Given the description of an element on the screen output the (x, y) to click on. 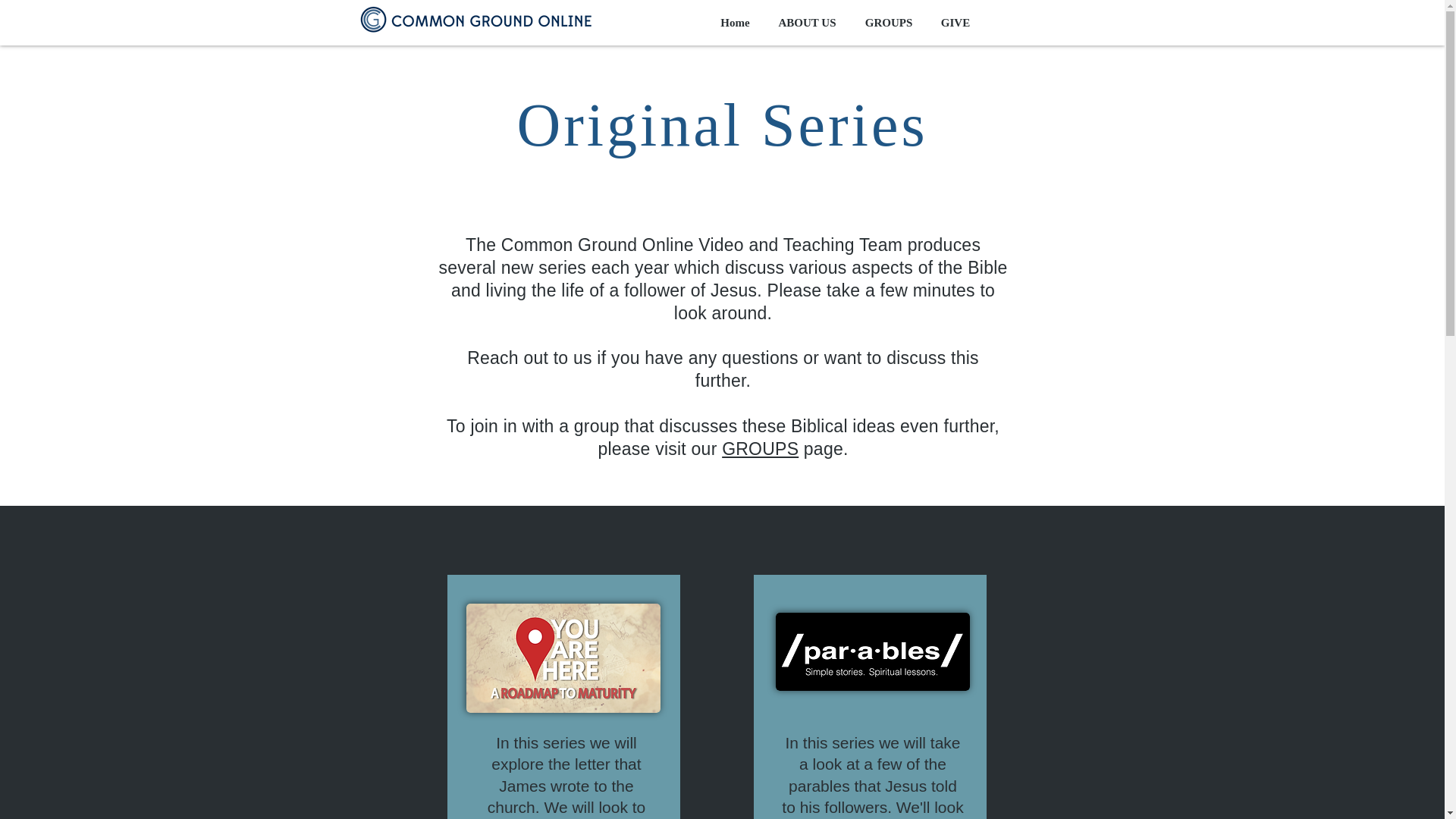
Home (735, 22)
GROUPS (888, 22)
GIVE (955, 22)
ABOUT US (807, 22)
GROUPS (759, 448)
